Given the description of an element on the screen output the (x, y) to click on. 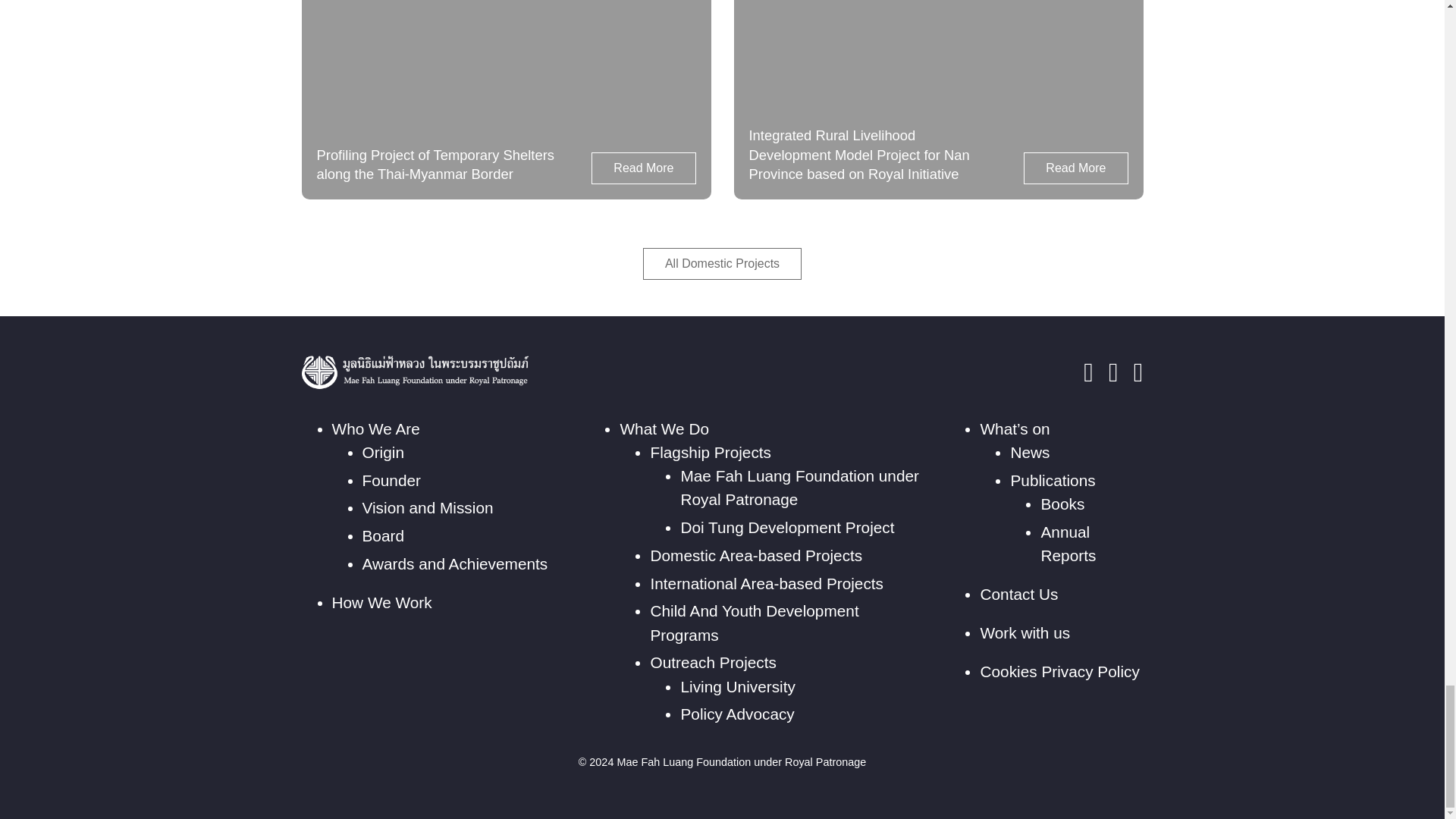
Read More (643, 168)
